Given the description of an element on the screen output the (x, y) to click on. 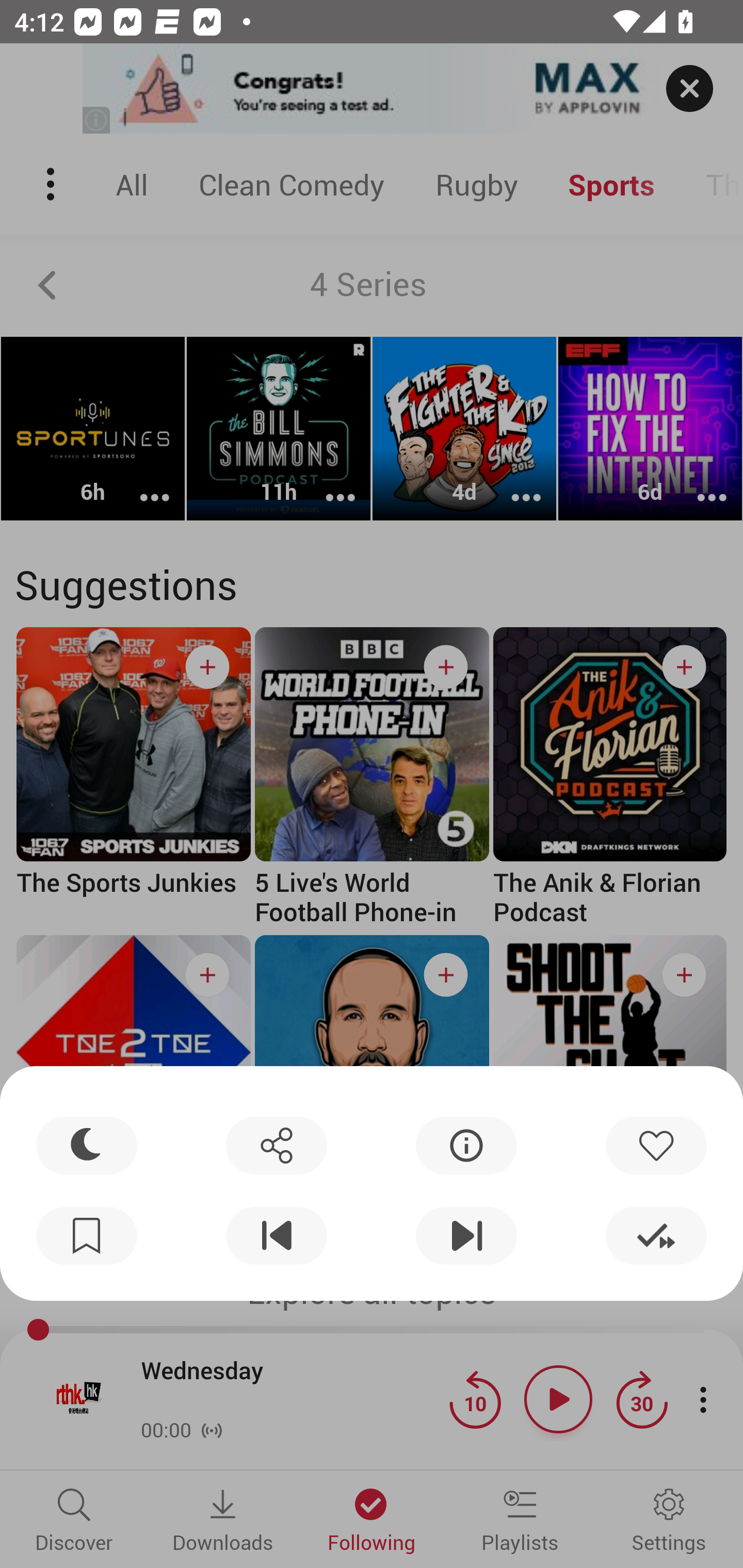
Sleep timer (86, 1145)
Share (275, 1145)
Info (466, 1145)
Like (655, 1145)
New bookmark … (86, 1236)
Previous (275, 1236)
Next (466, 1236)
Mark played and next (655, 1236)
